Given the description of an element on the screen output the (x, y) to click on. 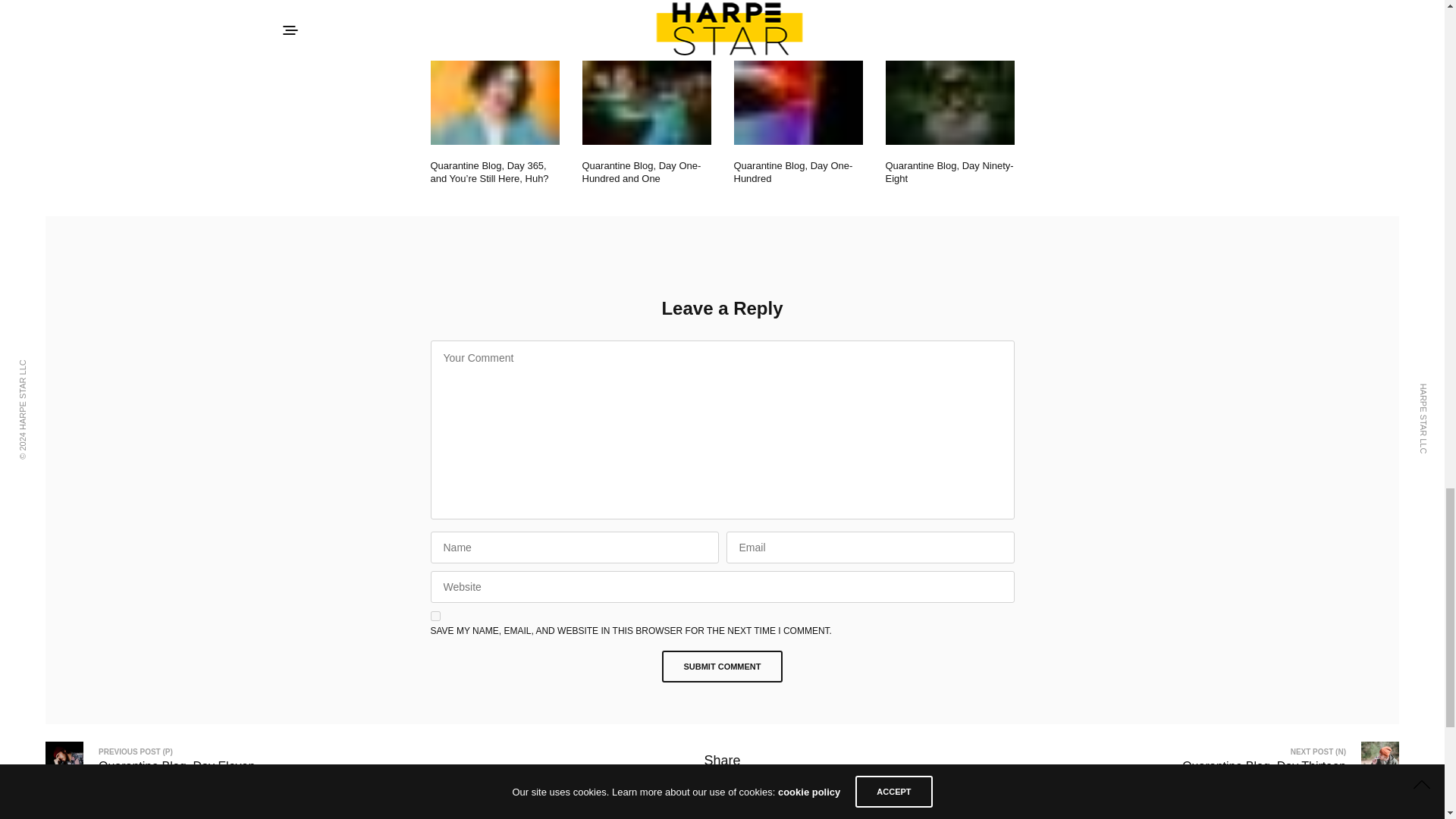
yes (435, 615)
Quarantine Blog, Day One-Hundred and One (641, 171)
Quarantine Blog, Day One-Hundred and One (641, 171)
Quarantine Blog, Day One-Hundred (798, 102)
Submit Comment (721, 666)
Quarantine Blog, Day Ninety-Eight (949, 102)
Quarantine Blog, Day One-Hundred and One (646, 102)
Quarantine Blog, Day Ninety-Eight (949, 171)
Quarantine Blog, Day One-Hundred (793, 171)
Share (721, 760)
Quarantine Blog, Day Ninety-Eight (949, 171)
Submit Comment (721, 666)
Quarantine Blog, Day One-Hundred (793, 171)
